Given the description of an element on the screen output the (x, y) to click on. 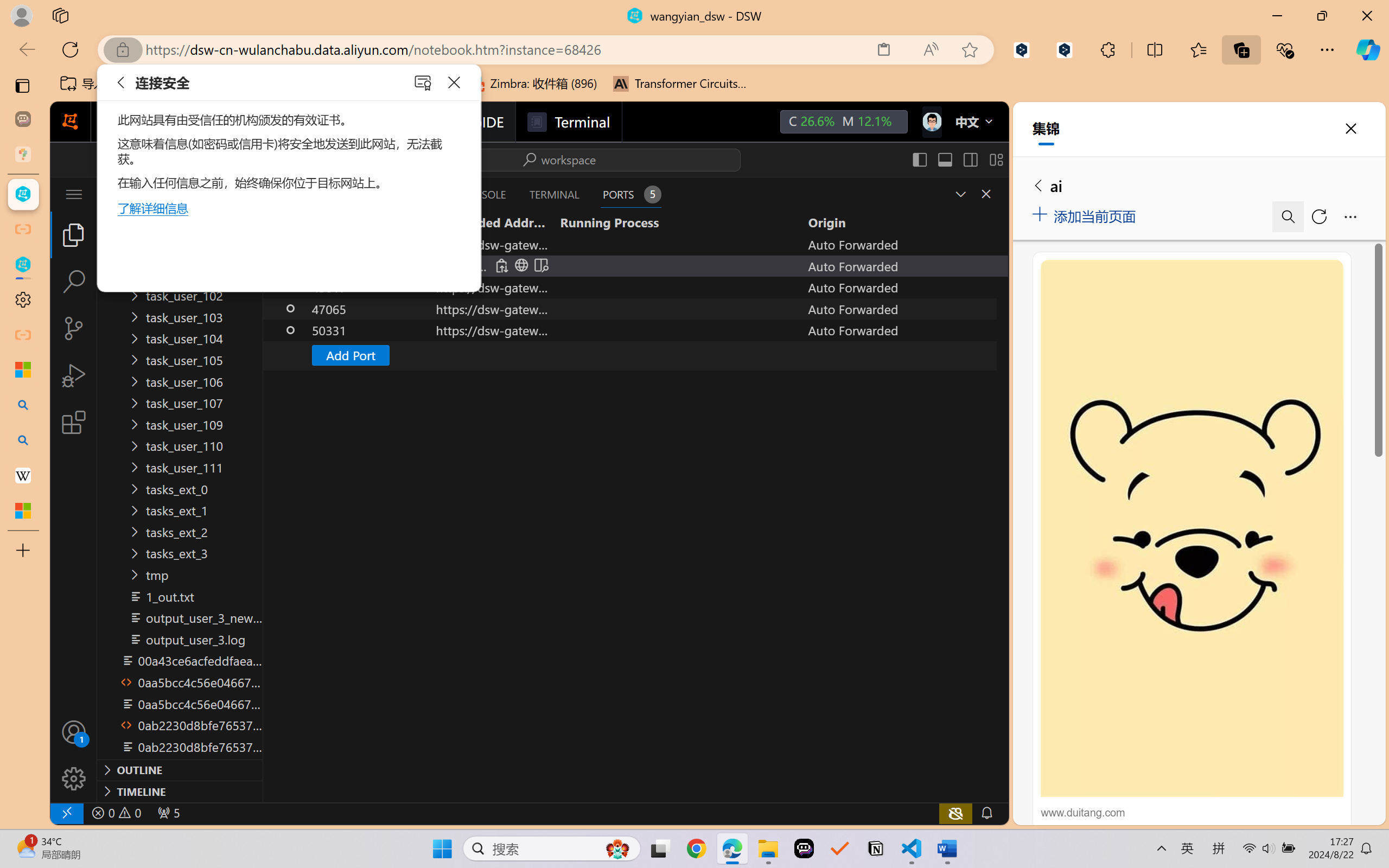
Accounts - Sign in requested (73, 732)
Toggle Secondary Side Bar (Ctrl+Alt+B) (969, 159)
Class: next-menu next-hoz widgets--iconMenu--BFkiHRM (930, 121)
Notifications (986, 812)
icon (930, 121)
Customize Layout... (995, 159)
Restore Panel Size (959, 193)
Microsoft security help and learning (22, 369)
Toggle Panel (Ctrl+J) (944, 159)
